Given the description of an element on the screen output the (x, y) to click on. 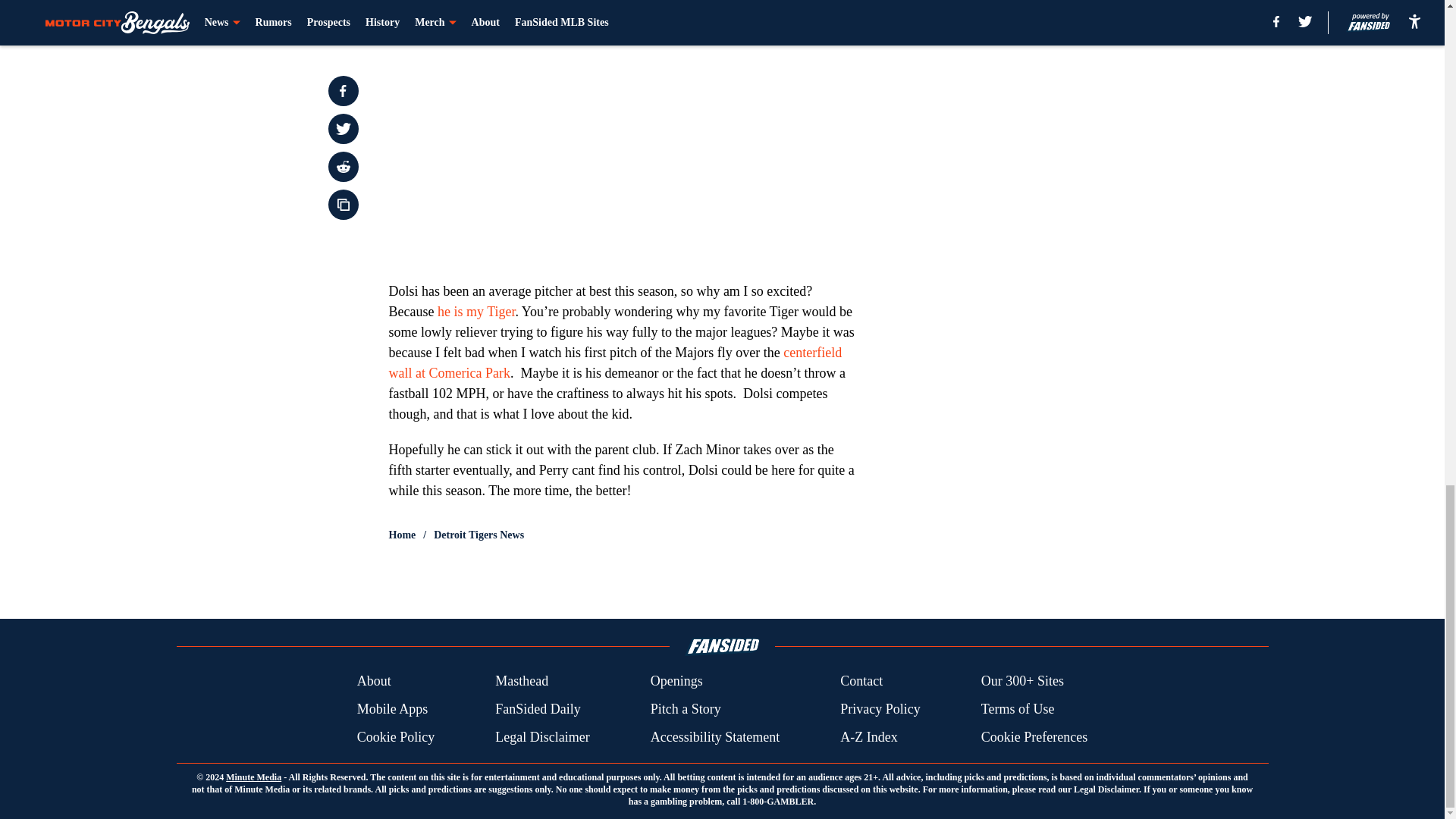
Detroit Tigers News (478, 534)
Openings (676, 680)
Terms of Use (1017, 709)
3rd party ad content (1047, 9)
Pitch a Story (685, 709)
About (373, 680)
Mobile Apps (392, 709)
he is my Tiger (476, 311)
Privacy Policy (880, 709)
Masthead (521, 680)
centerfield wall at Comerica Park (614, 362)
Home (401, 534)
Contact (861, 680)
FanSided Daily (537, 709)
